Given the description of an element on the screen output the (x, y) to click on. 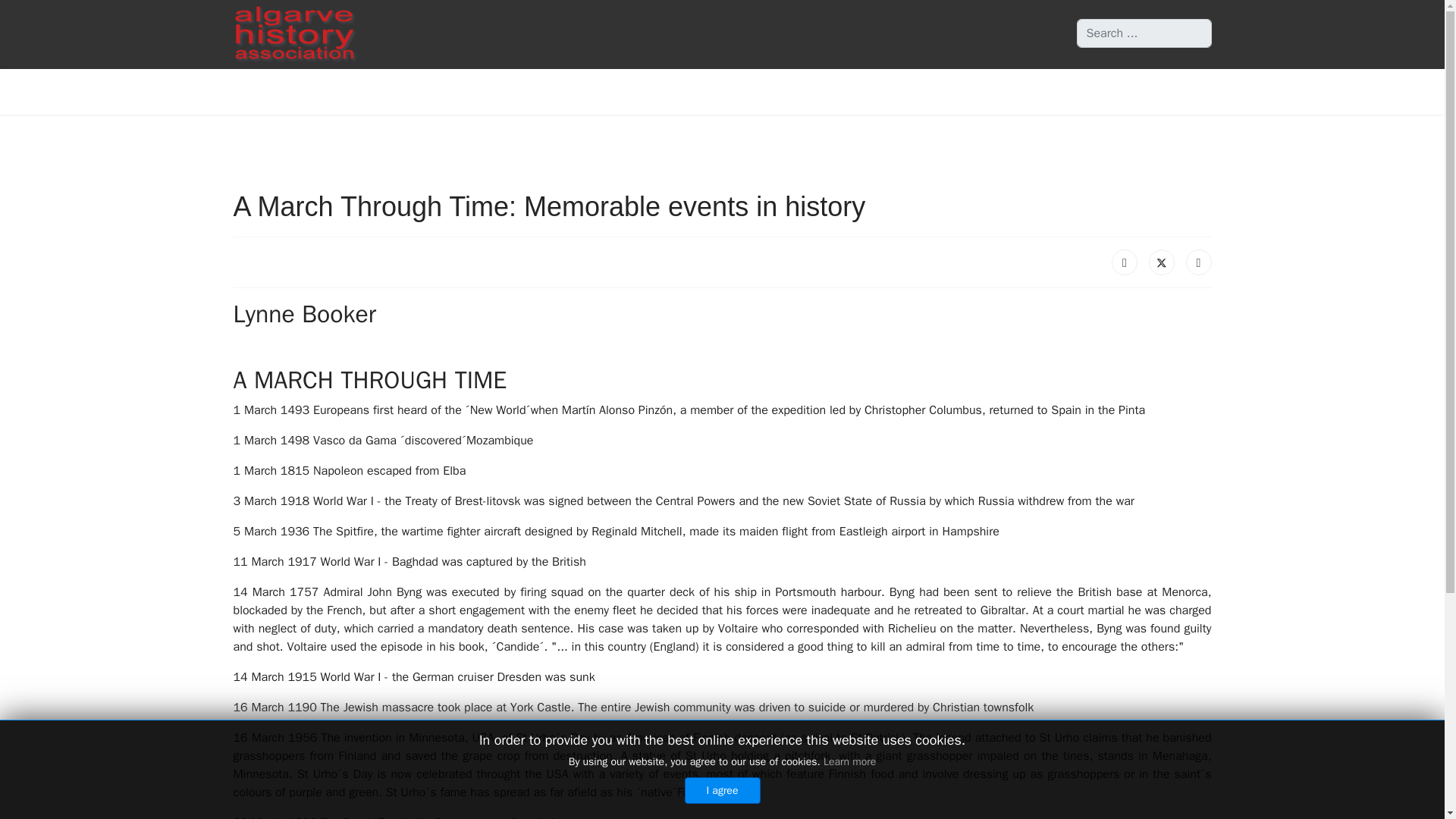
Videos (842, 91)
LinkedIn (1198, 262)
Contacts (1190, 91)
Quiz (891, 91)
Home (655, 91)
Newsletters (720, 91)
Portuguese History (975, 91)
Facebook (1124, 262)
Links (1134, 91)
Learn more (850, 761)
Library (787, 91)
Features (1072, 91)
